Given the description of an element on the screen output the (x, y) to click on. 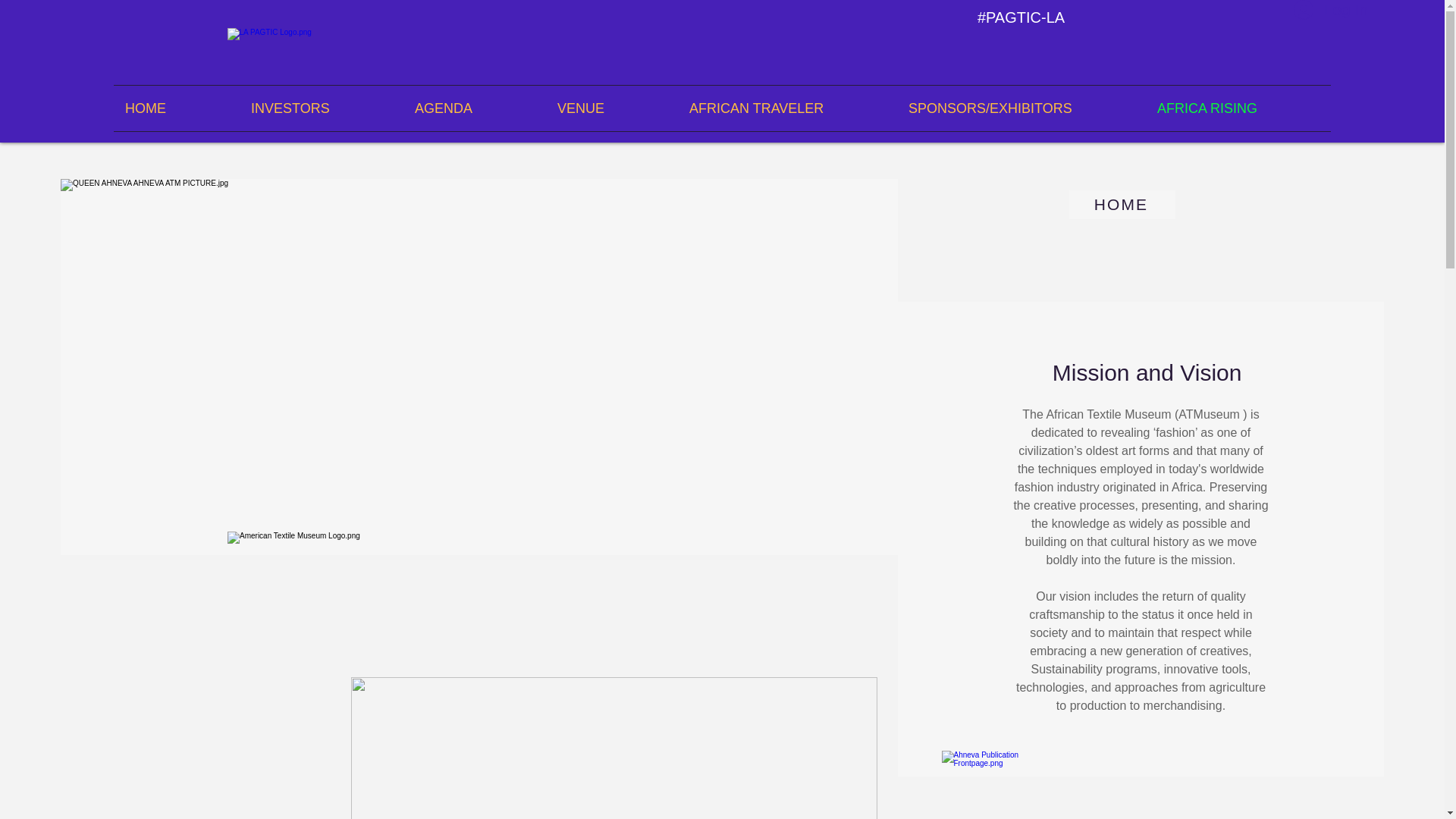
AGENDA (474, 108)
HOME (1121, 204)
VENUE (612, 108)
INVESTORS (321, 108)
HOME (176, 108)
Log In (1320, 12)
ATM example.png (613, 748)
AFRICA RISING (1237, 108)
AFRICAN TRAVELER (787, 108)
